Given the description of an element on the screen output the (x, y) to click on. 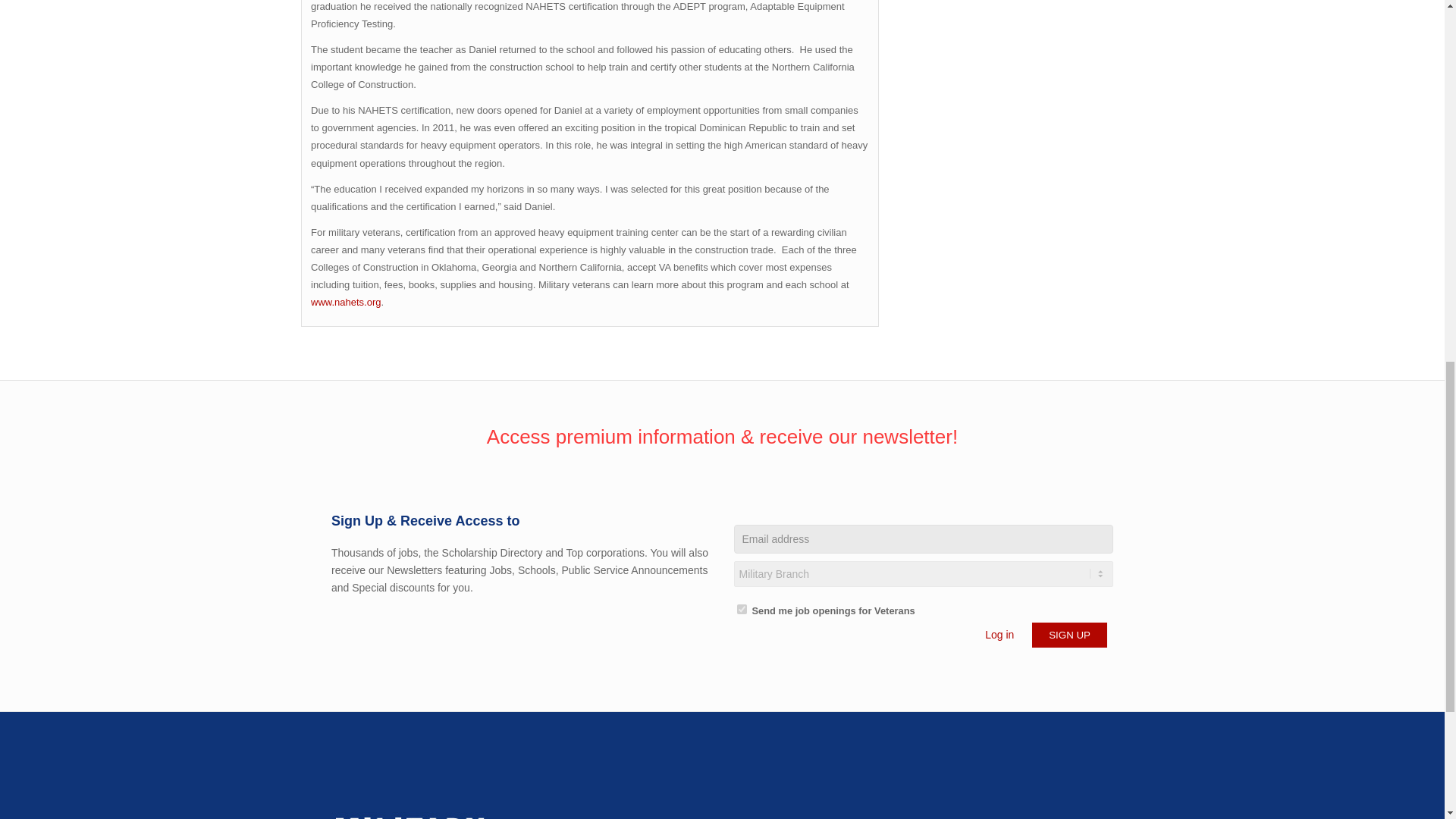
3rd party ad content (1028, 5)
on (741, 609)
Sign Up (1069, 634)
www.nahets.org (346, 301)
Log in (999, 634)
Sign Up (1069, 634)
